Given the description of an element on the screen output the (x, y) to click on. 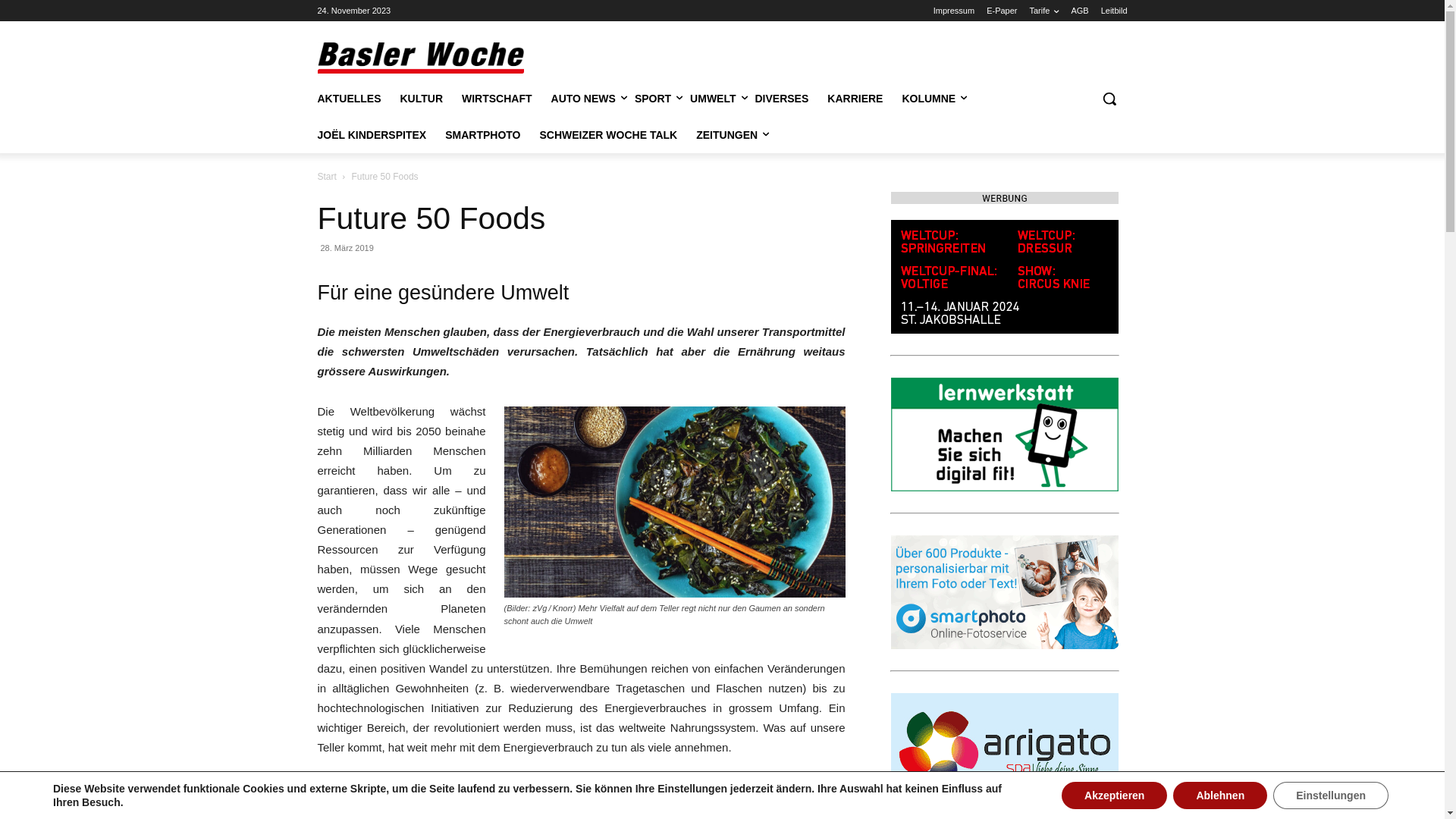
DIVERSES Element type: text (782, 98)
UMWELT Element type: text (712, 98)
E-Paper Element type: text (1001, 10)
SPORT Element type: text (652, 98)
LONGINES CHI CLASSICS BASEL Element type: hover (1003, 276)
AGB Element type: text (1079, 10)
smartphoto Element type: hover (1003, 592)
Impressum Element type: text (953, 10)
KARRIERE Element type: text (854, 98)
SMARTPHOTO Element type: text (482, 134)
KULTUR Element type: text (421, 98)
AUTO NEWS Element type: text (583, 98)
Leitbild Element type: text (1114, 10)
WIRTSCHAFT Element type: text (496, 98)
Ablehnen Element type: text (1220, 795)
Start Element type: text (325, 176)
Lernwerkstatt Element type: hover (1003, 434)
Akzeptieren Element type: text (1114, 795)
Tarife Element type: text (1044, 10)
SCHWEIZER WOCHE TALK Element type: text (608, 134)
ZEITUNGEN Element type: text (726, 134)
Einstellungen Element type: text (1330, 795)
KOLUMNE Element type: text (928, 98)
AKTUELLES Element type: text (348, 98)
Arrigato GmbH Element type: hover (1003, 749)
